Given the description of an element on the screen output the (x, y) to click on. 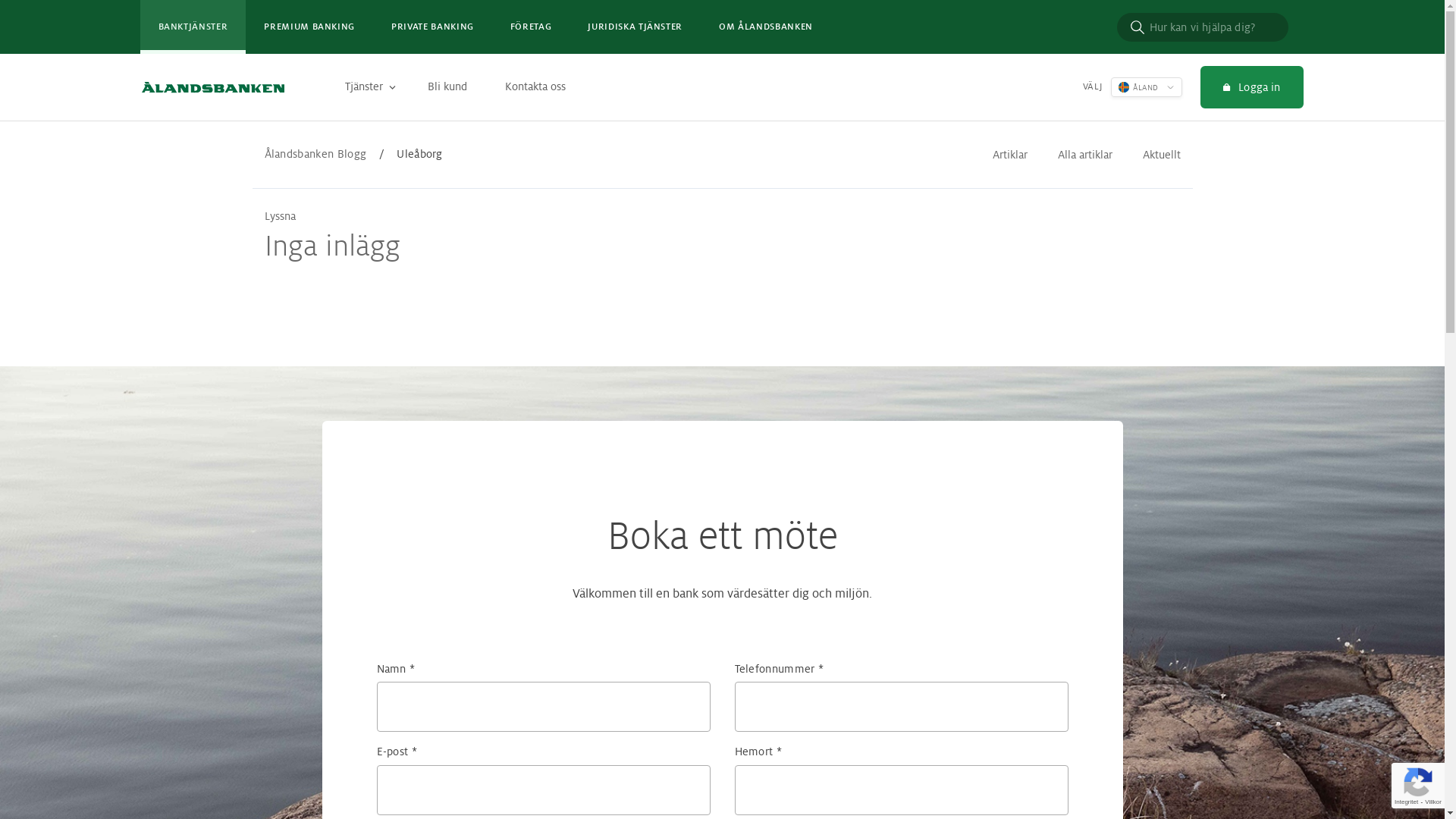
Logga in Element type: text (1251, 86)
Artiklar Element type: text (1008, 154)
PREMIUM BANKING Element type: text (309, 26)
Aktuellt Element type: text (1160, 154)
Alla artiklar Element type: text (1084, 154)
Kontakta oss Element type: text (538, 86)
Lyssna Element type: text (278, 216)
Bli kund Element type: text (450, 86)
PRIVATE BANKING Element type: text (432, 26)
